Given the description of an element on the screen output the (x, y) to click on. 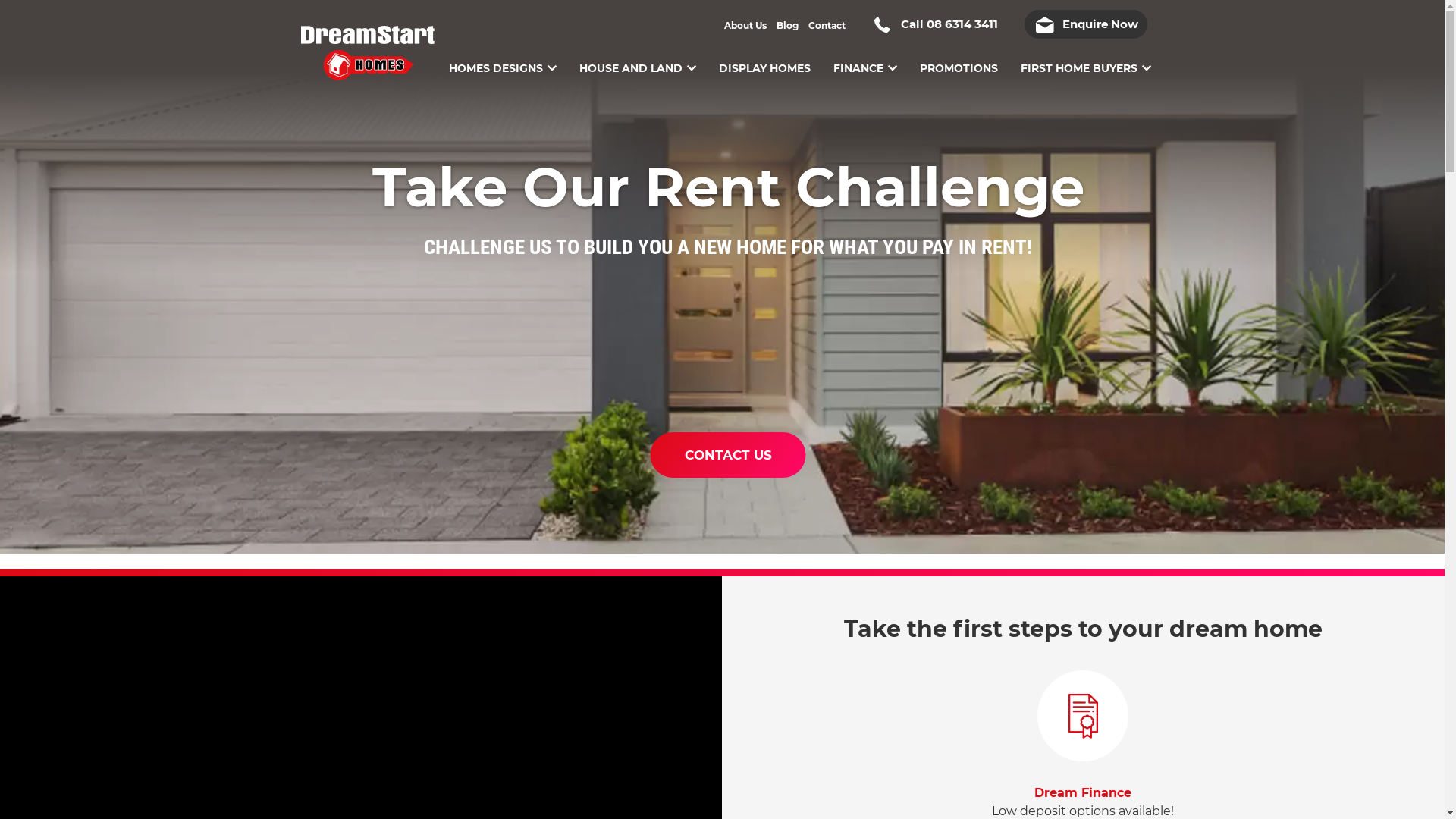
CONTACT US Element type: text (728, 454)
PROMOTIONS Element type: text (957, 56)
FINANCE Element type: text (864, 56)
HOMES DESIGNS Element type: text (502, 56)
08 6314 3411 Element type: text (961, 23)
HOUSE AND LAND Element type: text (637, 56)
Contact Element type: text (826, 25)
FIRST HOME BUYERS Element type: text (1085, 56)
DISPLAY HOMES Element type: text (764, 56)
About Us Element type: text (744, 25)
Enquire Now Element type: text (1084, 23)
Blog Element type: text (787, 25)
